Given the description of an element on the screen output the (x, y) to click on. 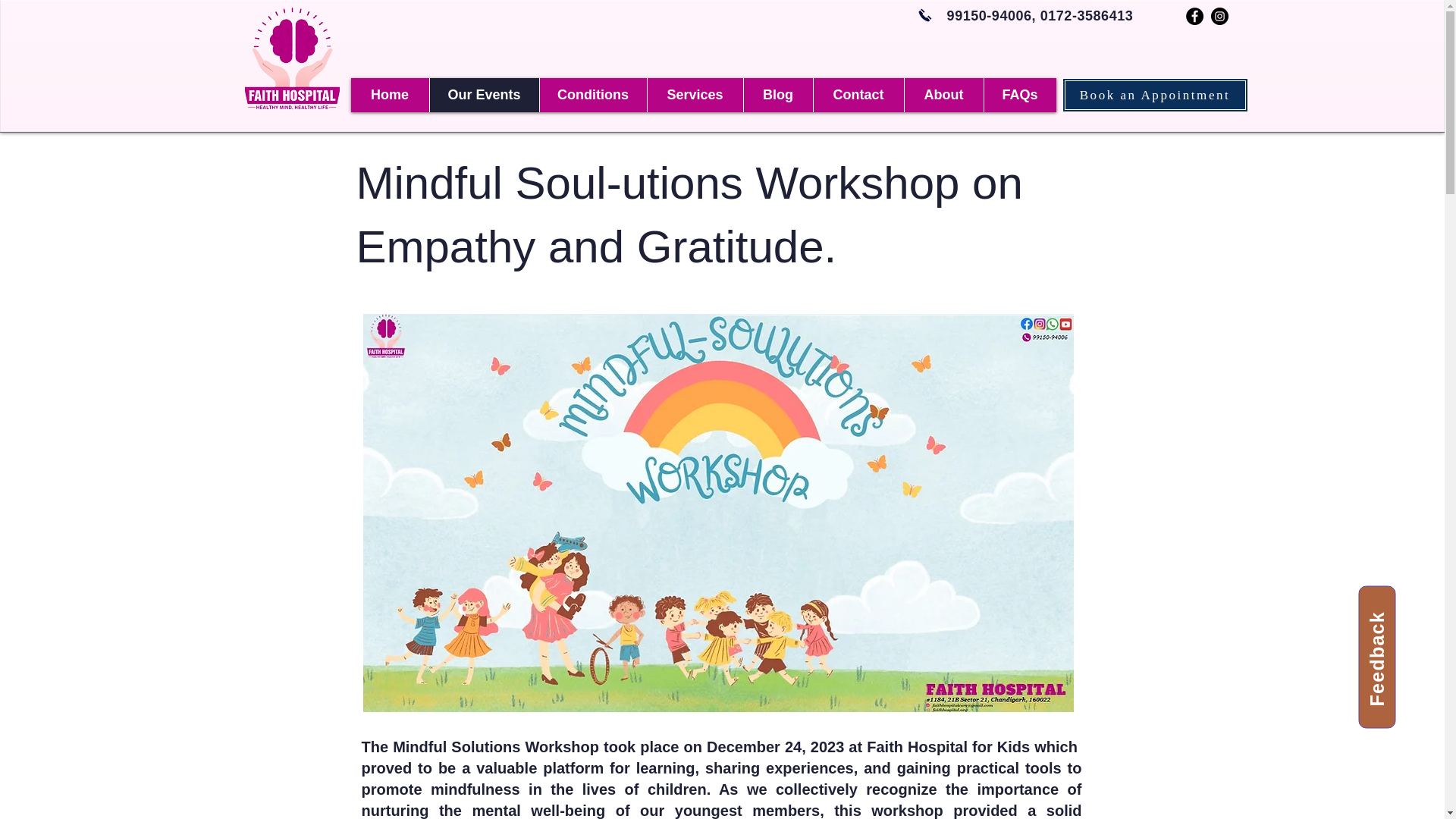
Contact (858, 94)
Book an Appointment (1154, 94)
Services (694, 94)
Blog (777, 94)
Conditions (592, 94)
About (944, 94)
Our Events (483, 94)
Home (389, 94)
FAQs (1018, 94)
